Given the description of an element on the screen output the (x, y) to click on. 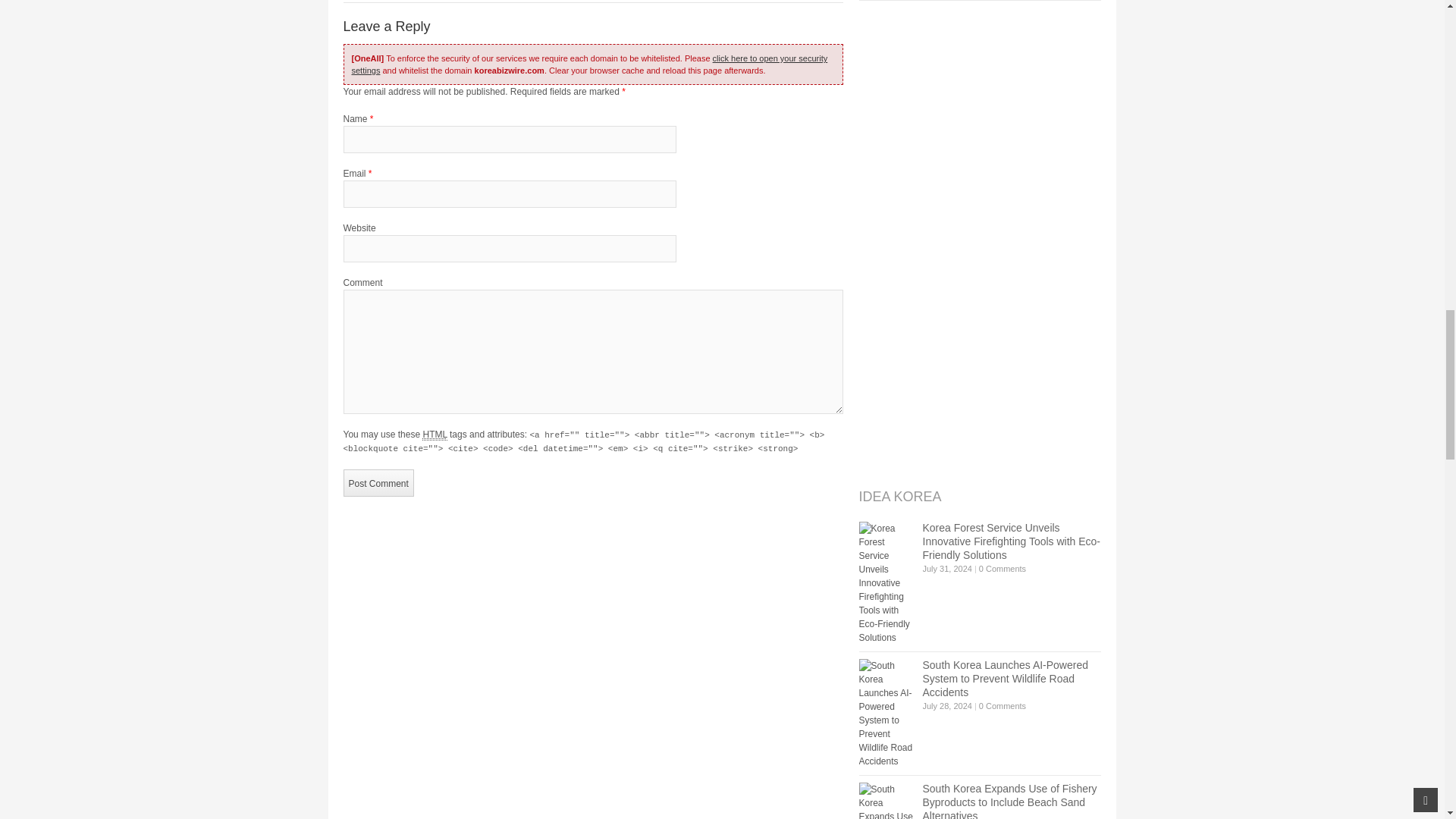
Post Comment (377, 482)
